Given the description of an element on the screen output the (x, y) to click on. 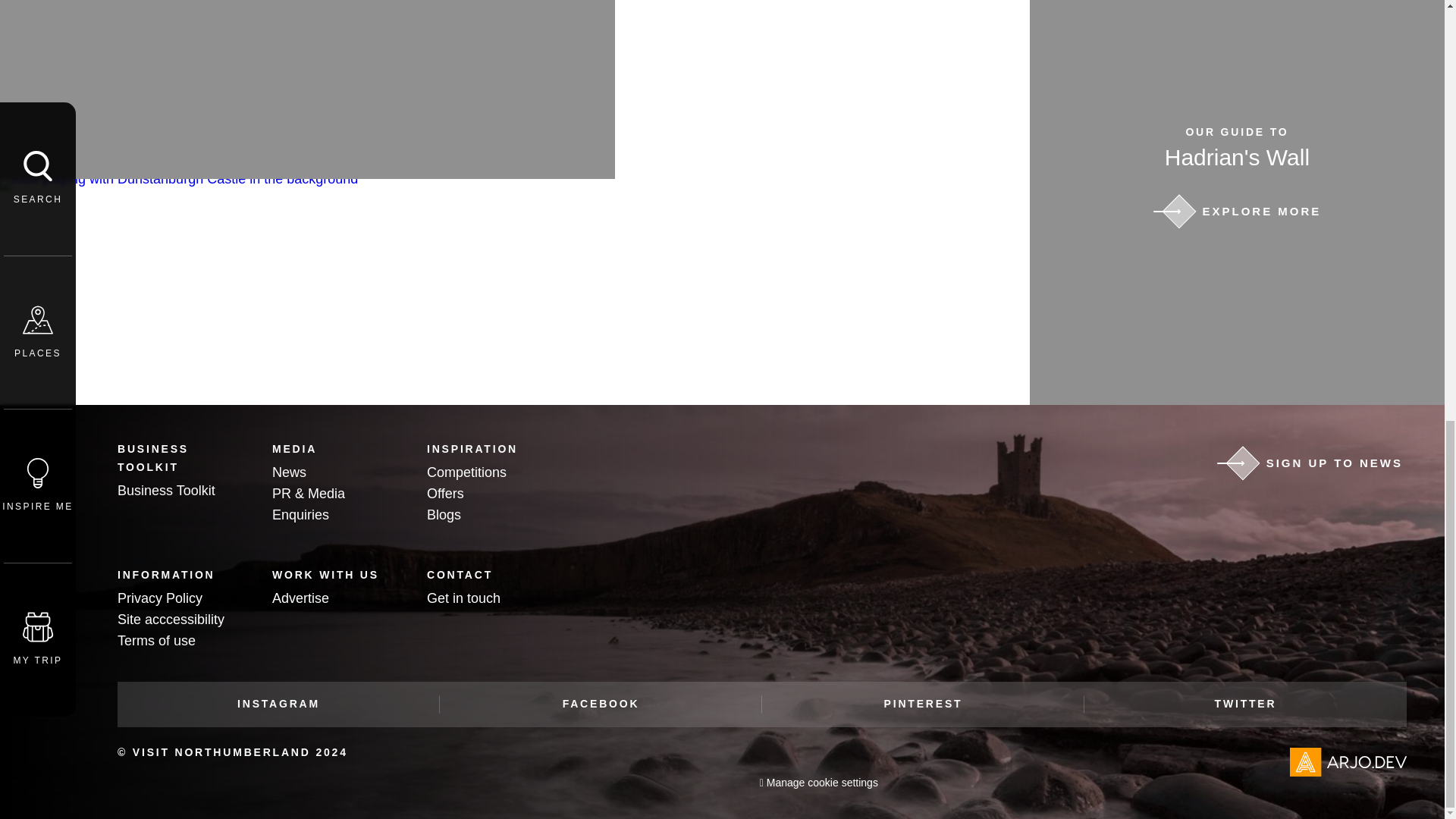
Site acccessibility (170, 619)
Advertise (300, 598)
Terms of use (156, 640)
News (288, 472)
Get in touch (463, 598)
Competitions (466, 472)
Business Toolkit (166, 490)
Blogs (443, 514)
Privacy Policy (159, 598)
Offers (445, 493)
